Given the description of an element on the screen output the (x, y) to click on. 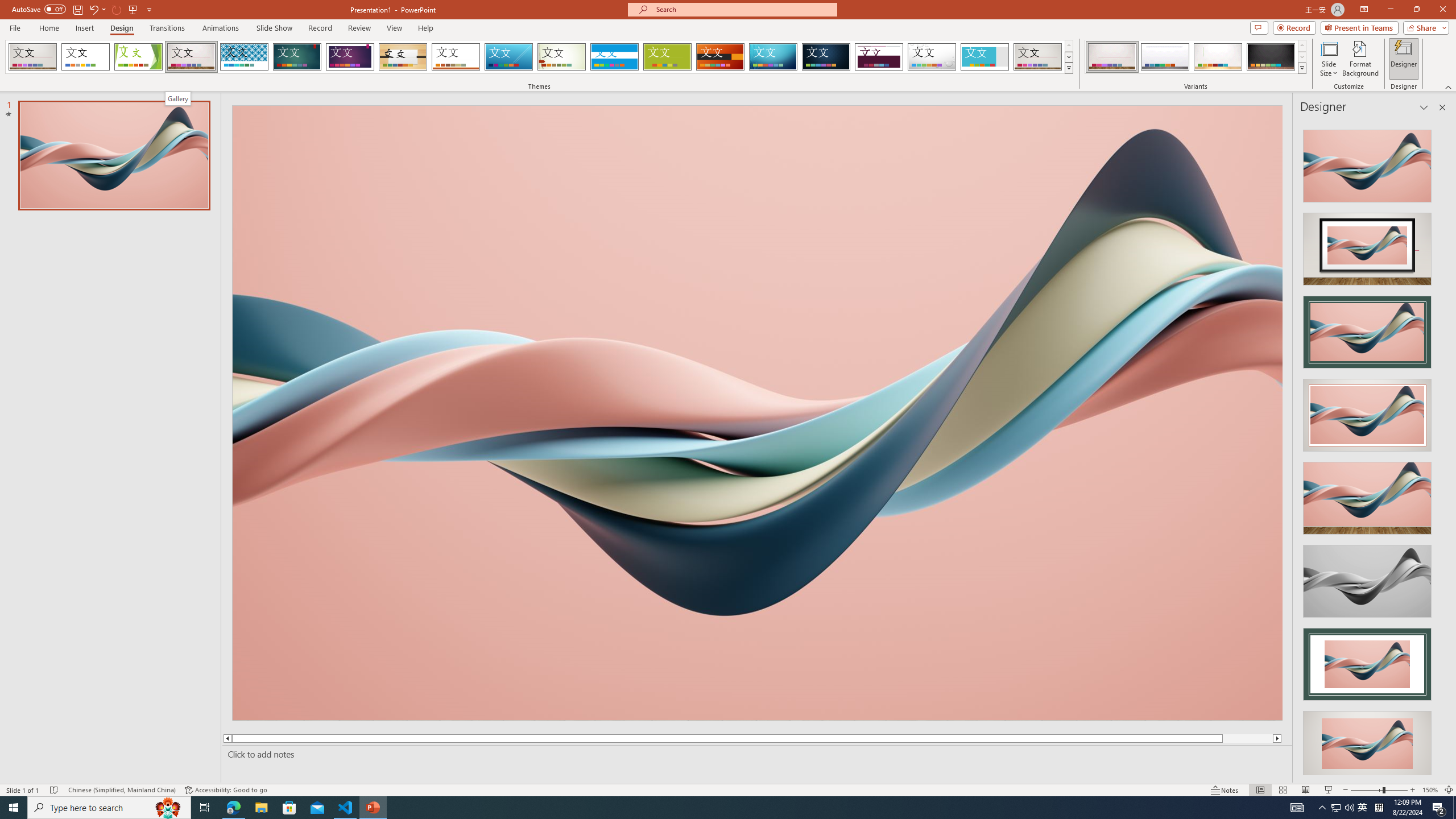
Wavy 3D art (757, 412)
Slide Notes (754, 754)
Gallery Variant 3 (1217, 56)
Banded (614, 56)
Office Theme (85, 56)
Retrospect (455, 56)
Gallery (1037, 56)
